Given the description of an element on the screen output the (x, y) to click on. 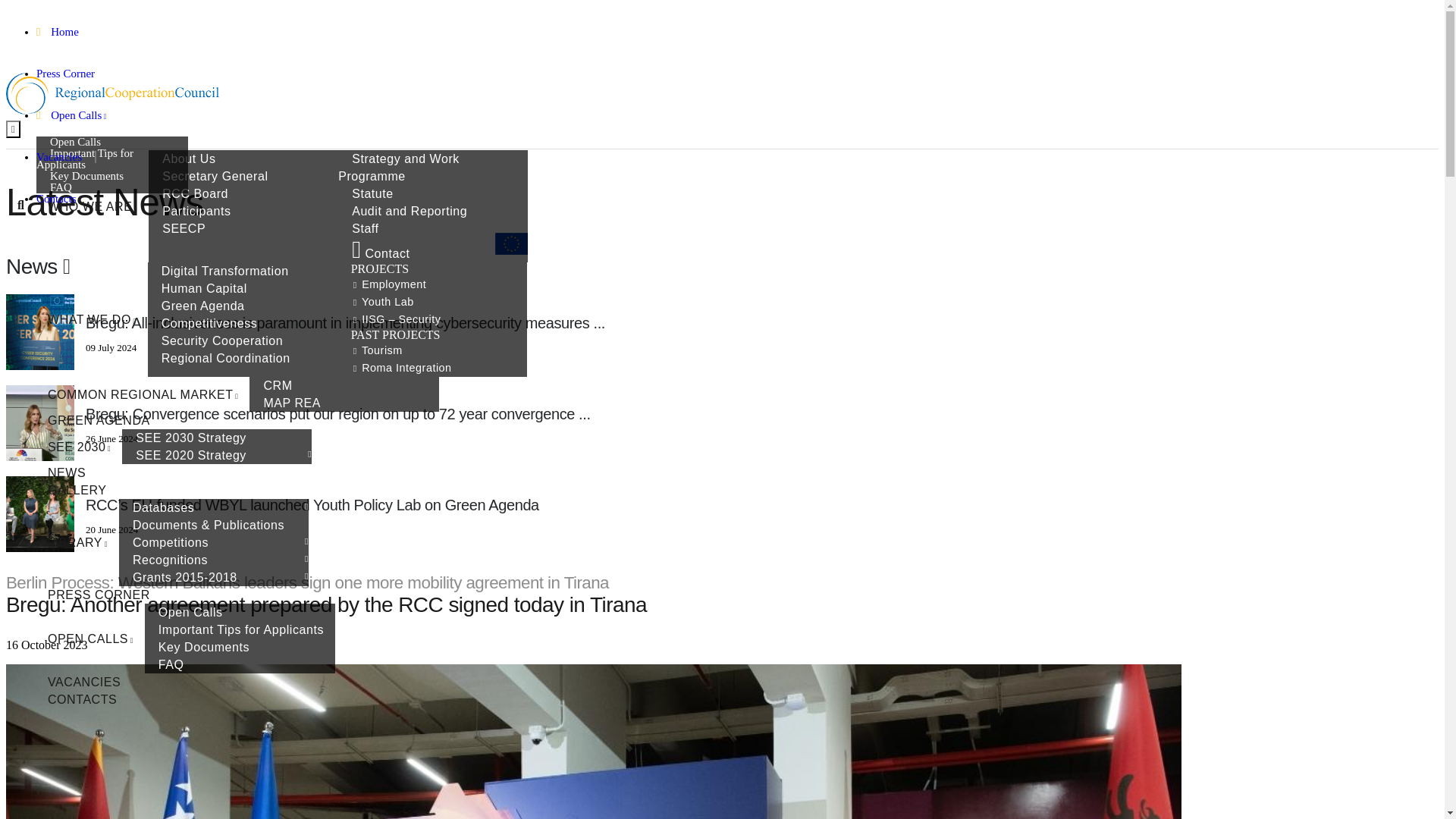
Press Corner (72, 73)
Open Calls (74, 141)
WHAT WE DO (92, 319)
Vacancies (66, 156)
Contacts (62, 198)
WHO WE ARE (92, 206)
RCC Facebook (45, 252)
About Us (187, 158)
Digital Transformation (223, 271)
Tourism (375, 350)
Human Capital (203, 288)
Key Documents (85, 175)
Audit and Reporting (408, 210)
Contact (378, 253)
Staff (363, 228)
